Given the description of an element on the screen output the (x, y) to click on. 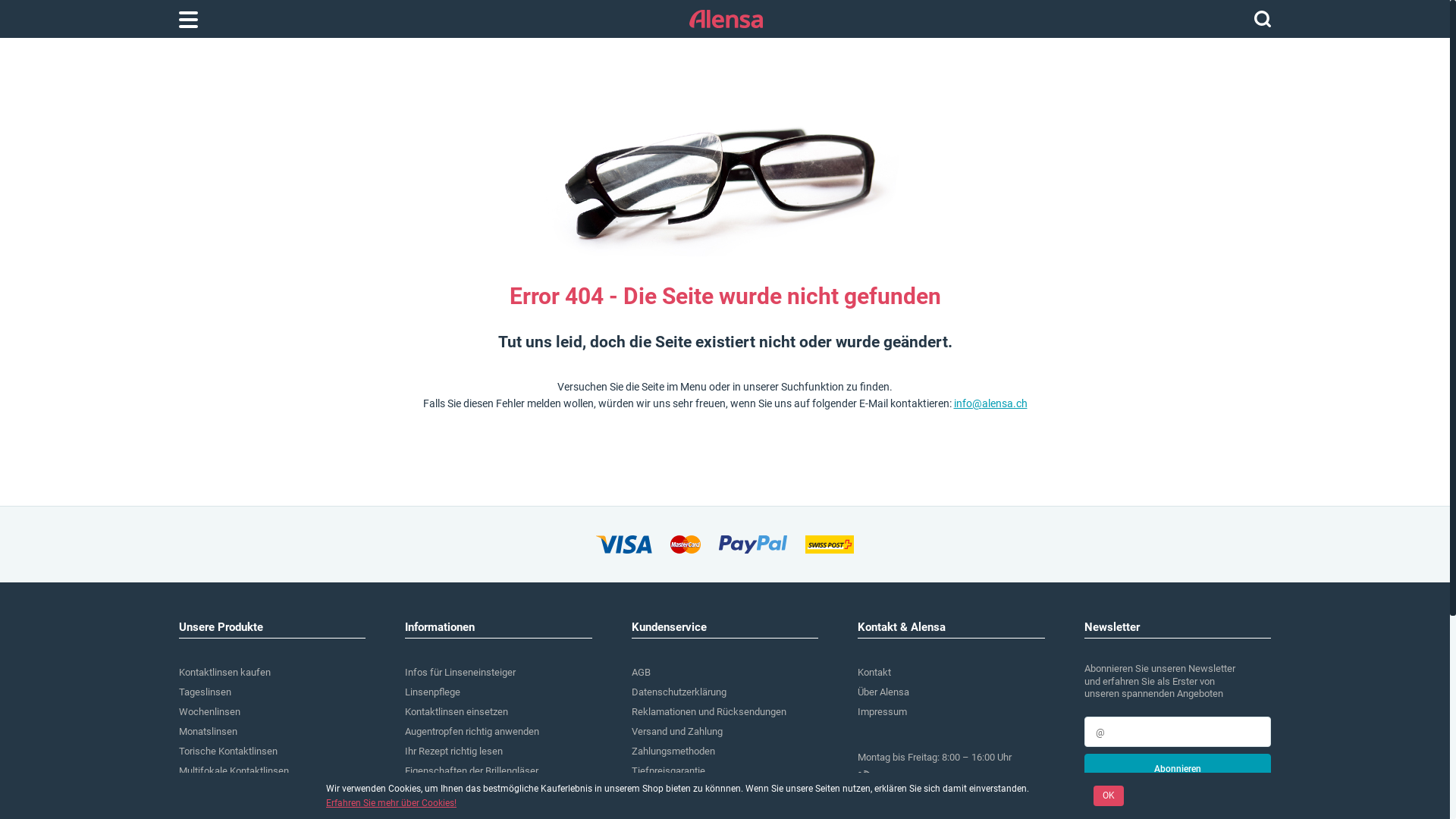
Tiefpreisgarantie Element type: text (668, 770)
FAQ zu Ihrer Bestellung Element type: text (681, 790)
Linsenpflege Element type: text (432, 691)
Kontaktlinsen kaufen Element type: text (224, 671)
Polarisierte Sonnenbrillen Element type: text (459, 809)
Suchen Element type: hover (1262, 18)
Impressum Element type: text (881, 711)
Zahlungsmethoden Element type: text (673, 750)
Ihr Rezept richtig lesen Element type: text (453, 750)
AGB Element type: text (640, 671)
+41 225 017 989 Element type: text (950, 777)
Wochenlinsen Element type: text (209, 711)
Torische Kontaktlinsen Element type: text (227, 750)
Kontakt Element type: text (874, 671)
info@alensa.ch Element type: text (990, 403)
Abonnieren Element type: text (1177, 768)
Weitere Informationen Element type: text (679, 809)
Nein danke, ich will kein Geld sparen. Element type: text (1163, 796)
Pflegemittel Element type: text (204, 809)
info@alensa.ch Element type: text (950, 796)
Augentropfen richtig anwenden Element type: text (471, 731)
Farblinsen Element type: text (200, 790)
Multifokale Kontaktlinsen Element type: text (233, 770)
Tageslinsen Element type: text (204, 691)
Monatslinsen Element type: text (207, 731)
Versand und Zahlung Element type: text (676, 731)
OK Element type: text (1108, 795)
Kontaktlinsen einsetzen Element type: text (456, 711)
